Given the description of an element on the screen output the (x, y) to click on. 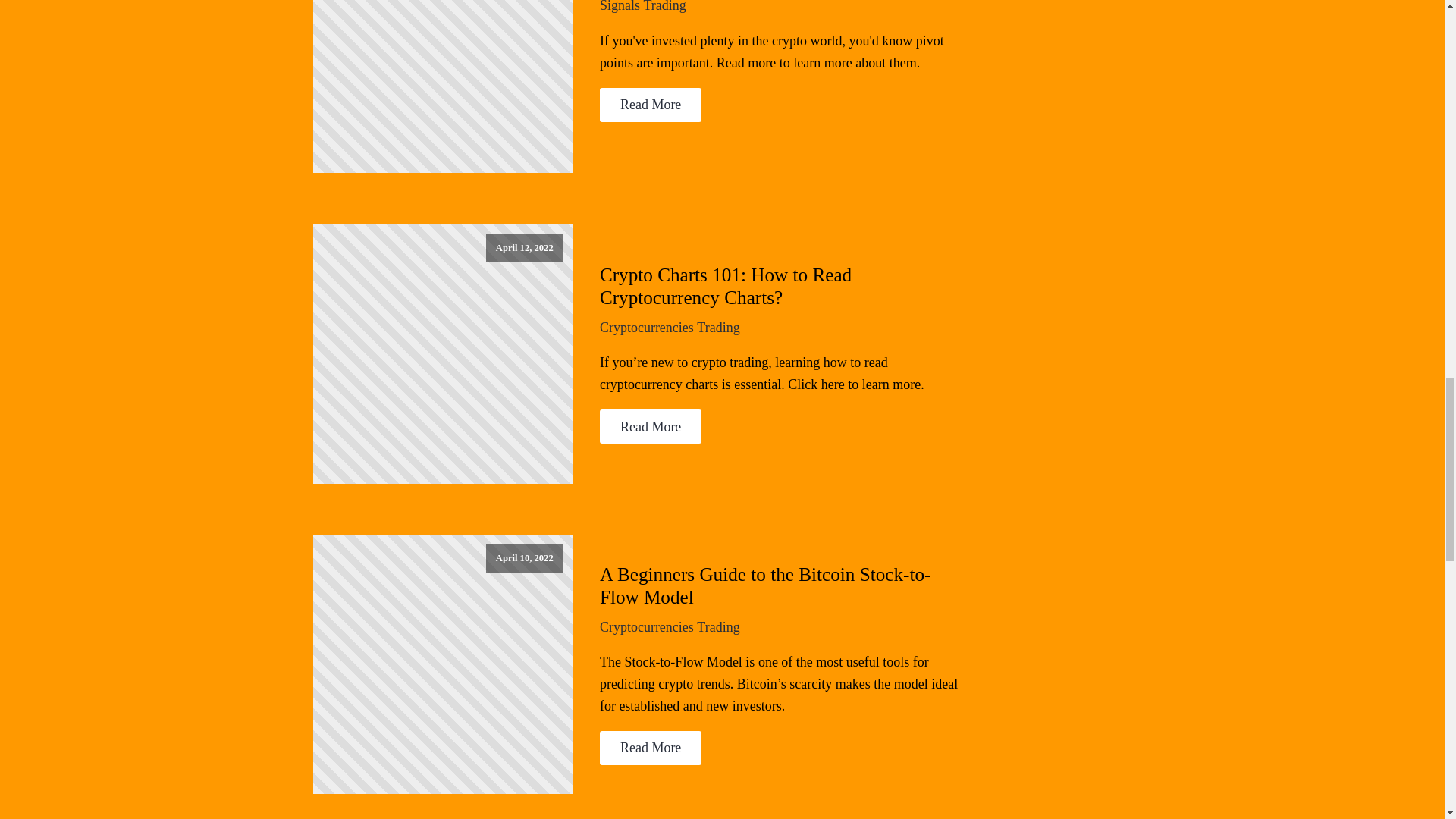
A Beginners Guide to the Bitcoin Stock-to-Flow Model (780, 586)
Read More (650, 104)
April 12, 2022 (442, 353)
Signals (619, 6)
Crypto Charts 101: How to Read Cryptocurrency Charts? (780, 286)
April 10, 2022 (442, 663)
April 14, 2022 (442, 86)
Trading (718, 327)
Trading (664, 6)
Cryptocurrencies (646, 327)
